Given the description of an element on the screen output the (x, y) to click on. 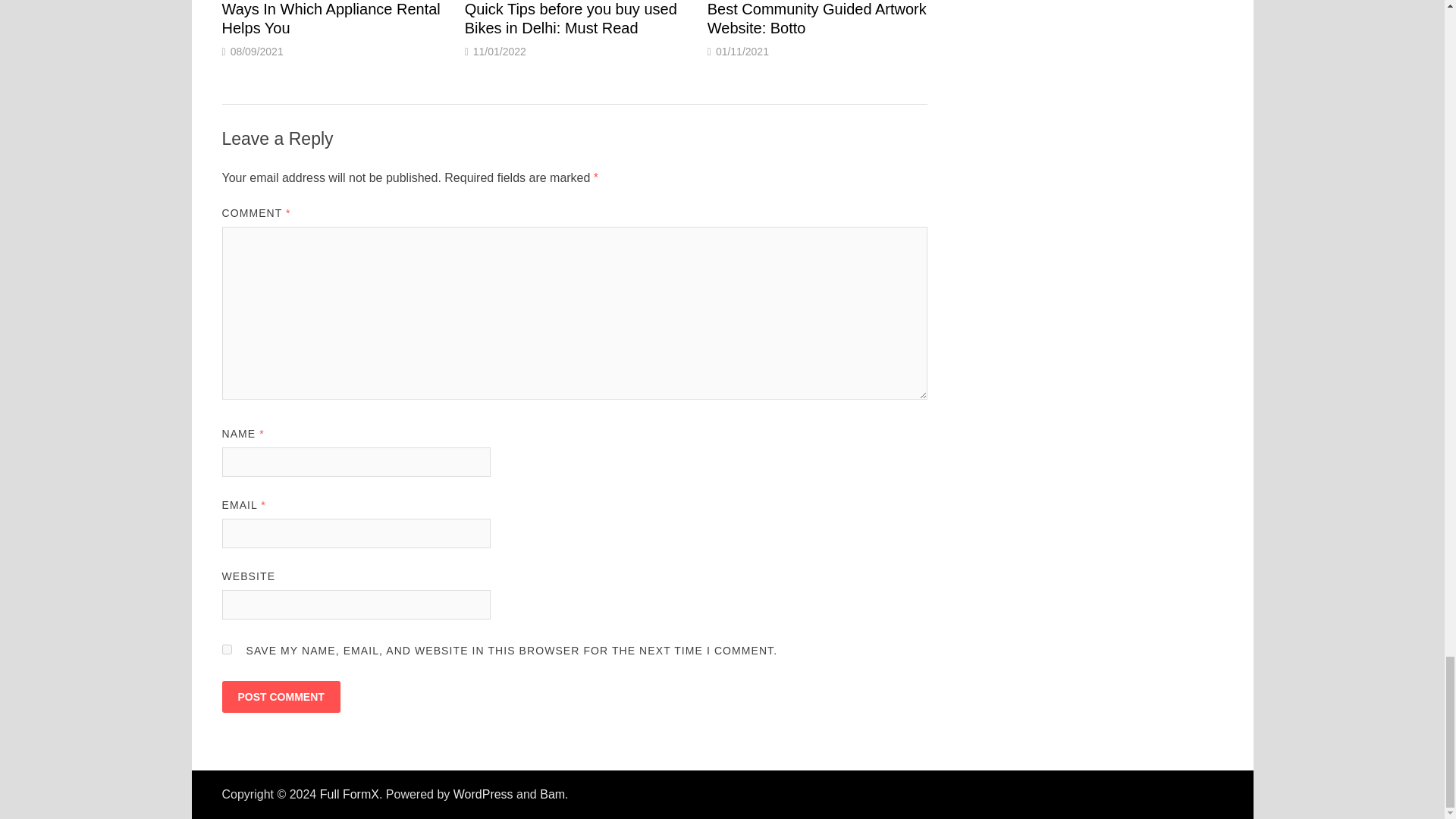
Post Comment (280, 696)
Ways In Which Appliance Rental Helps You (330, 18)
Full FormX (349, 793)
Ways In Which Appliance Rental Helps You (330, 18)
yes (226, 649)
